Given the description of an element on the screen output the (x, y) to click on. 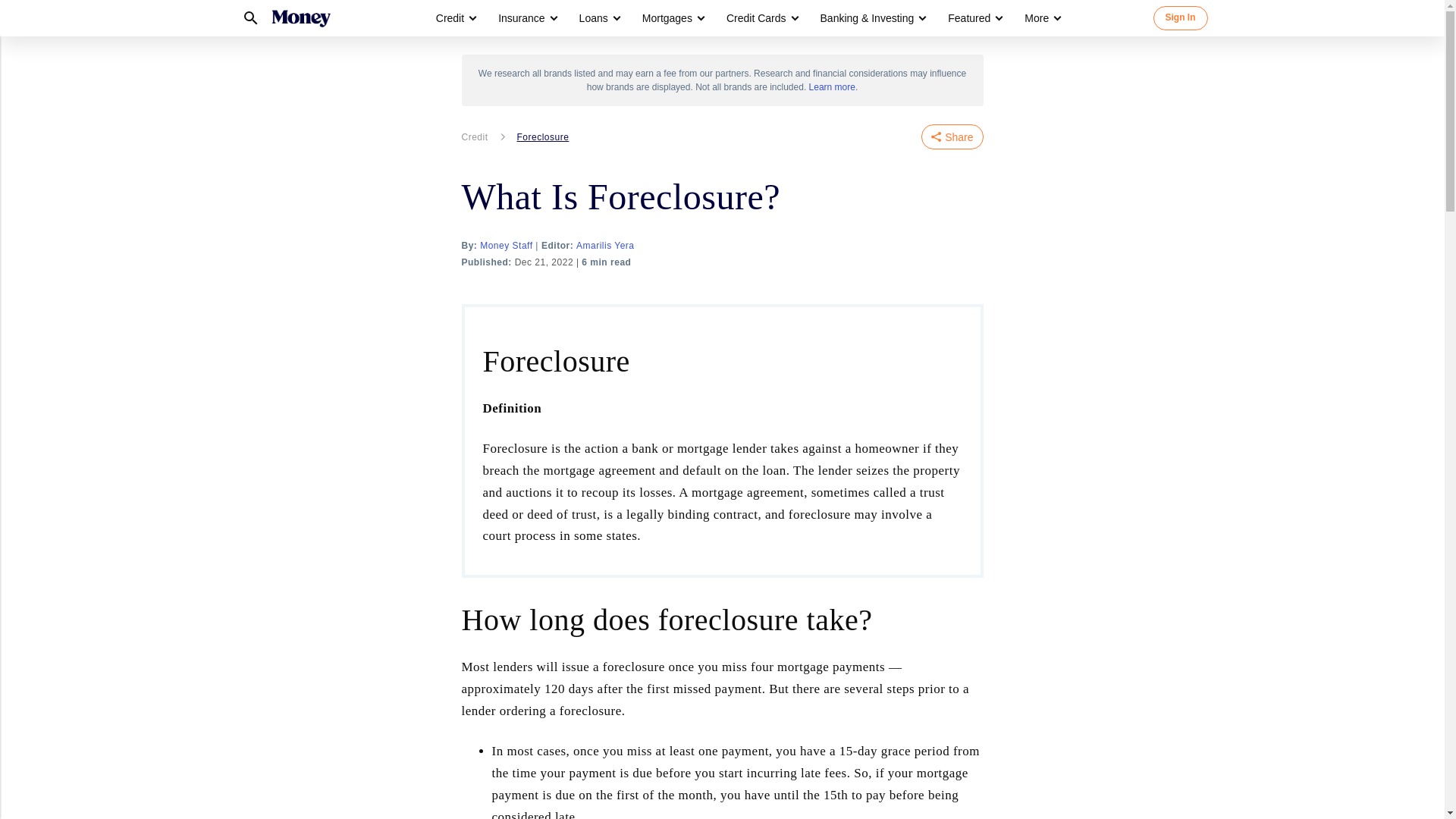
Mortgages (672, 18)
Insurance (526, 18)
Credit Cards (756, 18)
Loans (593, 18)
Credit (449, 18)
Credit Cards (761, 18)
Mortgages (667, 18)
Credit (455, 18)
Loans (598, 18)
Insurance (520, 18)
